Given the description of an element on the screen output the (x, y) to click on. 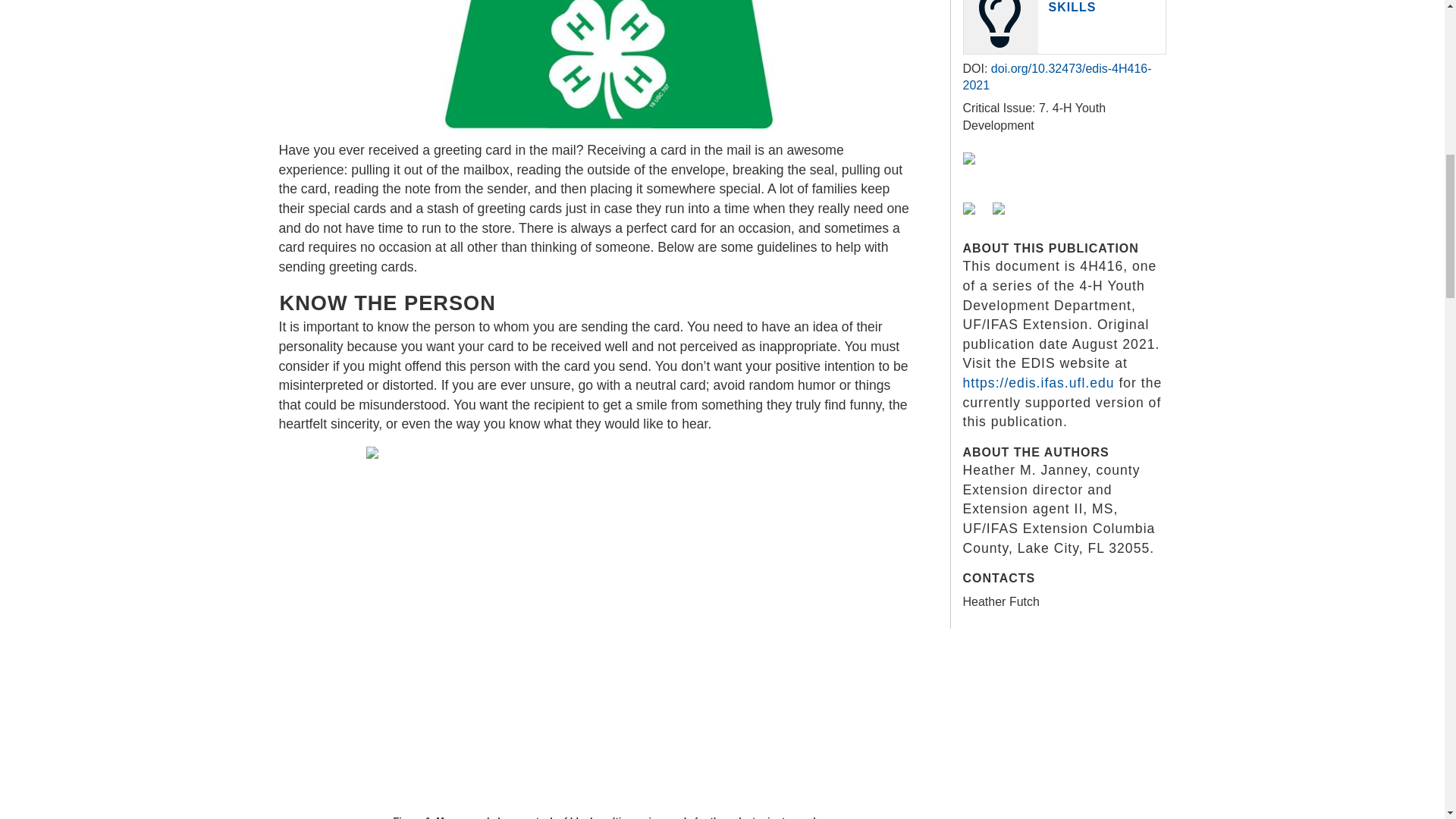
Picture 9 (607, 64)
Communication Skills (1104, 6)
General Public (977, 221)
COMMUNICATION SKILLS (1104, 6)
Fact Sheet (977, 171)
